Given the description of an element on the screen output the (x, y) to click on. 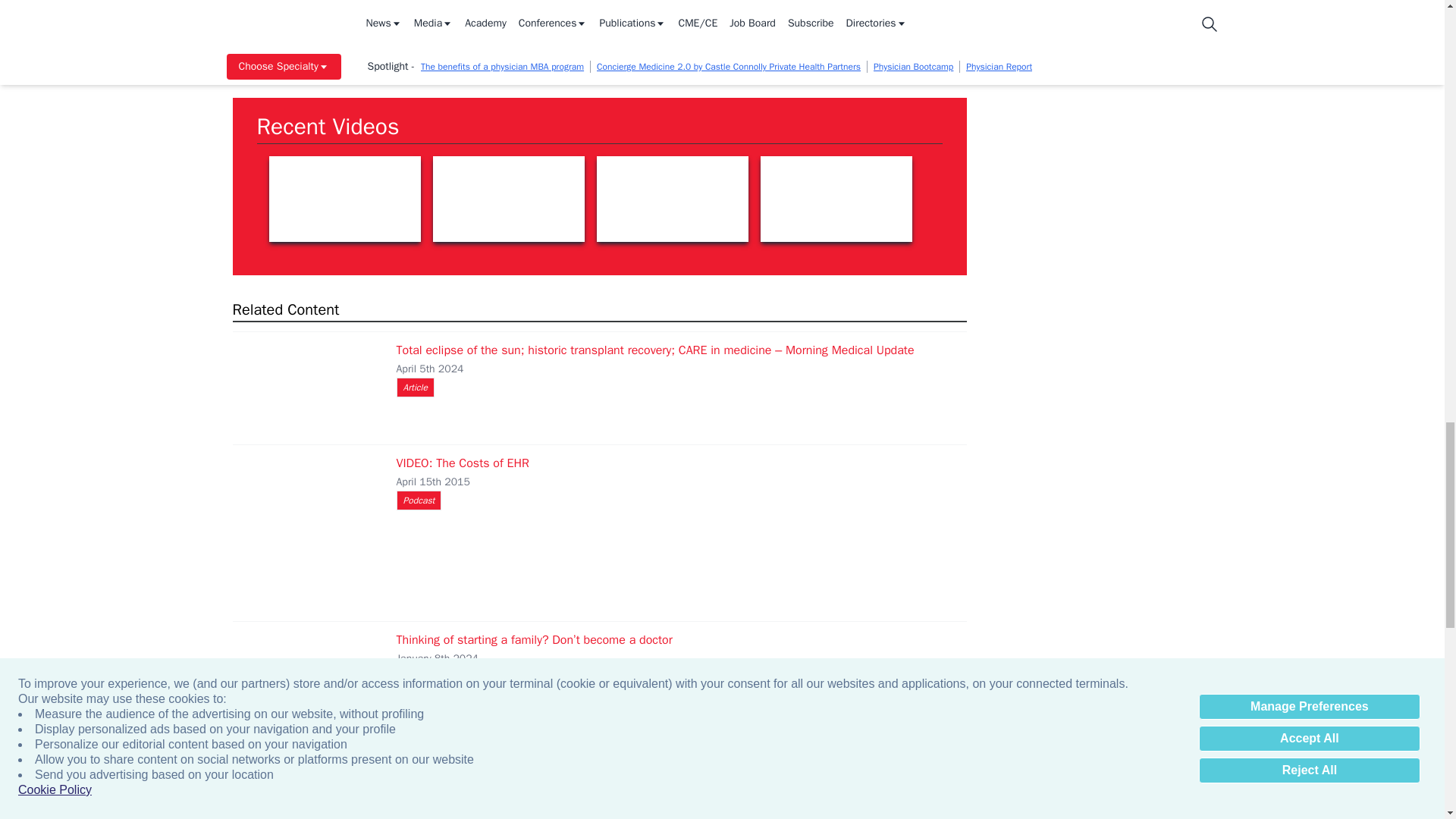
VIDEO: The Challenges of EHR Adoption (304, 791)
Victor J. Dzau, MD, gives expert advice (671, 198)
VIDEO: The Costs of EHR (304, 533)
Victor J. Dzau, MD, gives expert advice  (343, 198)
